Given the description of an element on the screen output the (x, y) to click on. 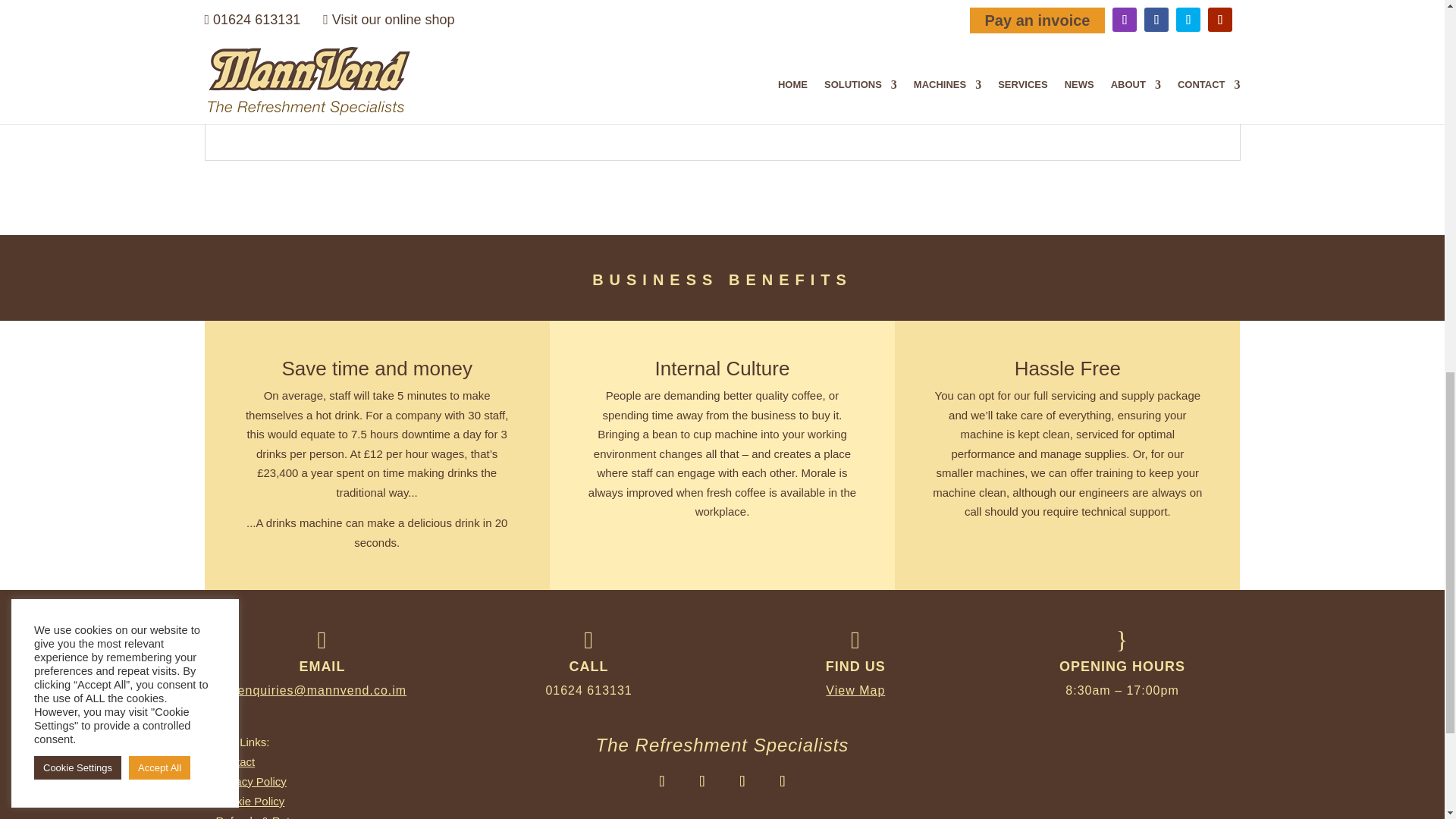
Follow on Twitter (741, 781)
Follow on Facebook (701, 781)
Follow on Instagram (661, 781)
